Given the description of an element on the screen output the (x, y) to click on. 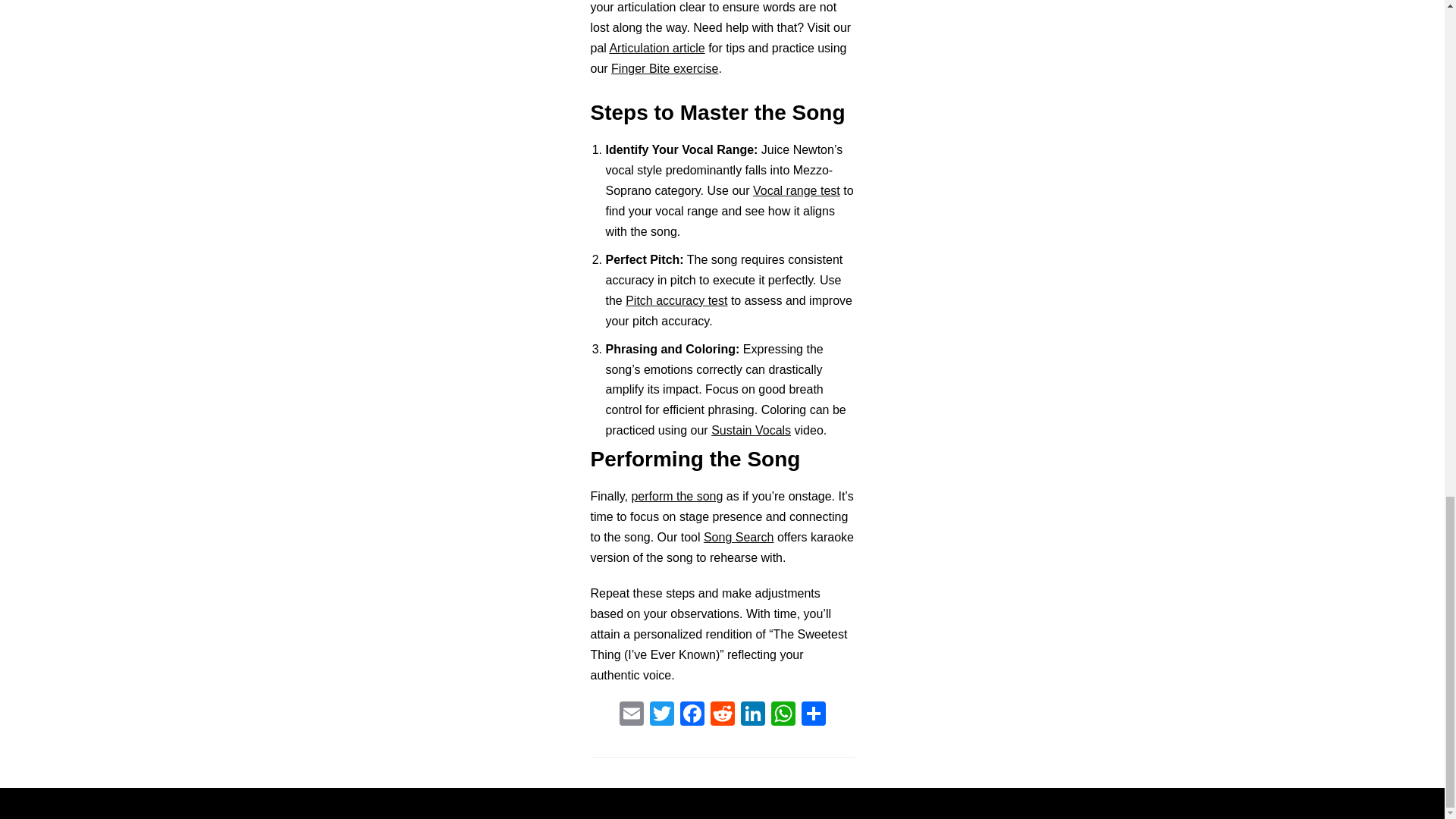
WhatsApp (782, 715)
Song Search (738, 536)
Finger Bite exercise (664, 68)
Email (630, 715)
Vocal range test (796, 190)
Share (812, 715)
Facebook (691, 715)
perform the song (676, 495)
WordPress (775, 802)
Reddit (721, 715)
LinkedIn (751, 715)
Email (630, 715)
Twitter (661, 715)
Sustain Vocals (750, 430)
Articulation article (656, 47)
